Given the description of an element on the screen output the (x, y) to click on. 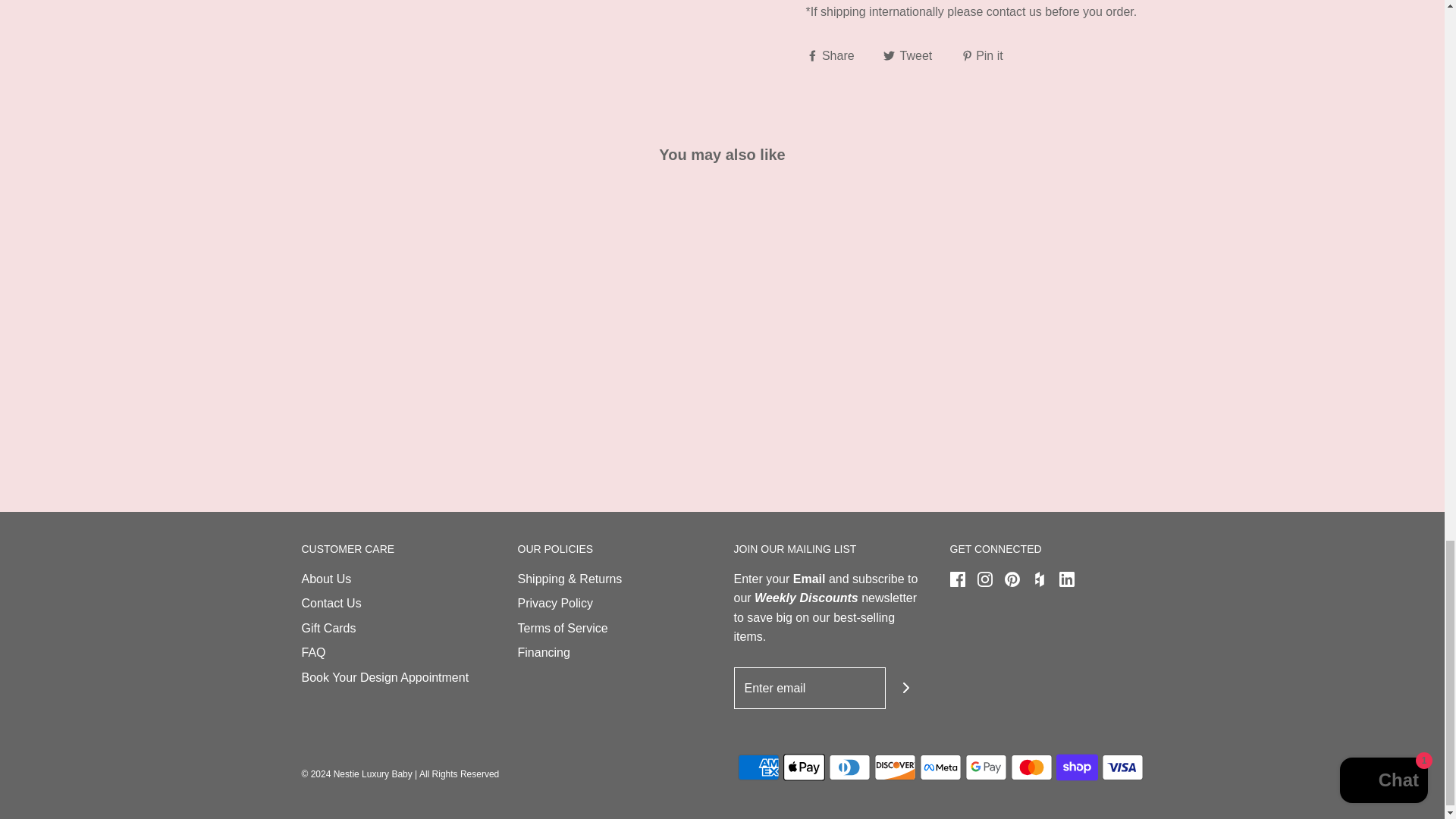
Facebook icon (956, 579)
